Given the description of an element on the screen output the (x, y) to click on. 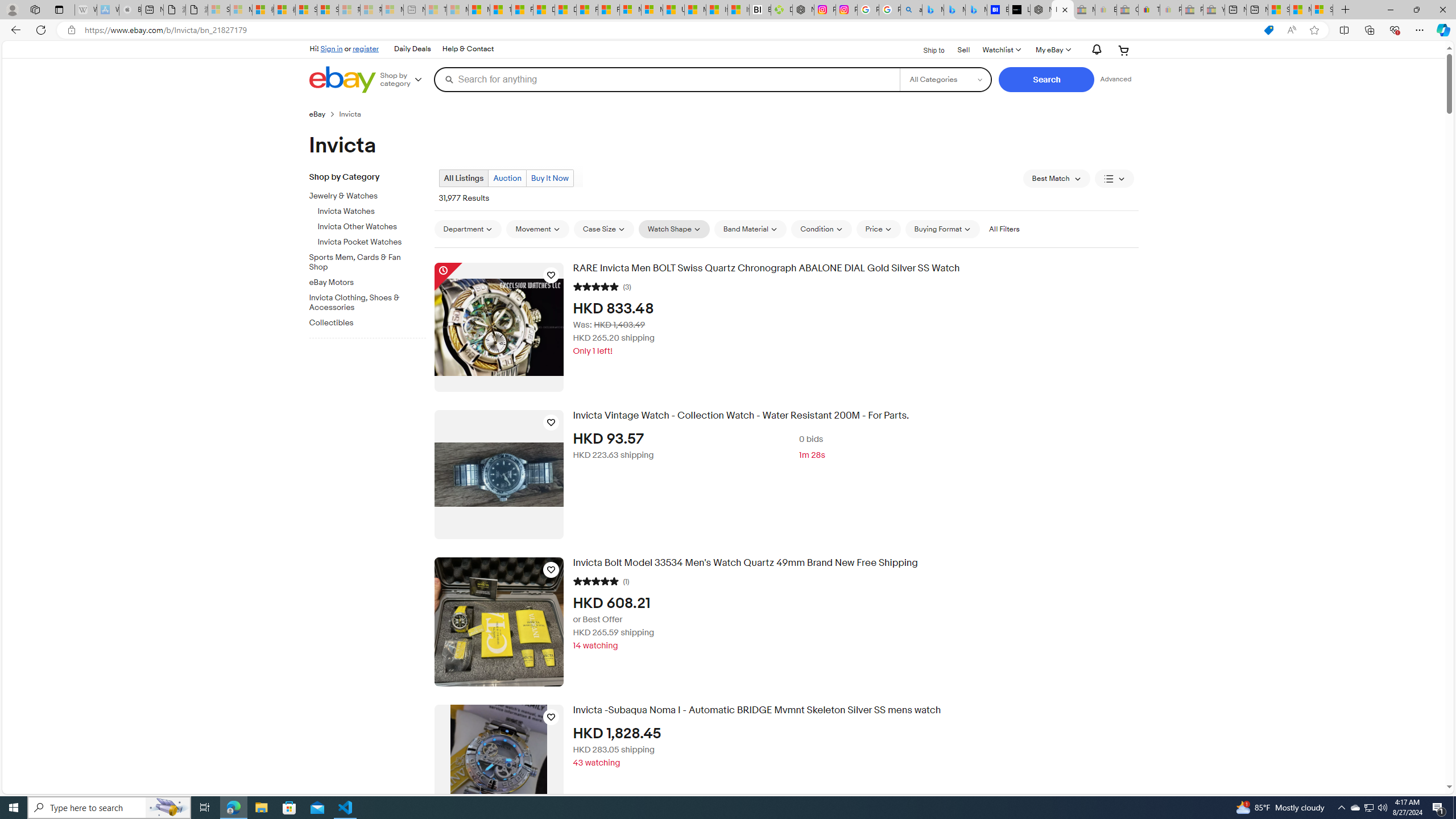
Ship to (926, 49)
Jewelry & Watches (371, 194)
Case Size (603, 229)
Band Material (750, 229)
eBay Home (341, 79)
Marine life - MSN - Sleeping (457, 9)
Help & Contact (467, 49)
All Listings (463, 177)
Shanghai, China hourly forecast | Microsoft Weather (1278, 9)
eBay Motors (371, 280)
